Given the description of an element on the screen output the (x, y) to click on. 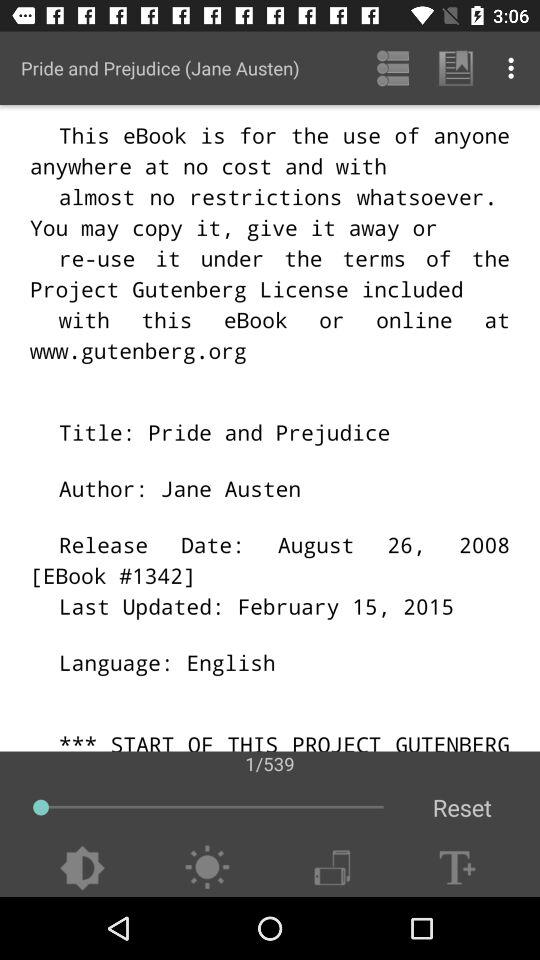
adjust the contrast (81, 867)
